Given the description of an element on the screen output the (x, y) to click on. 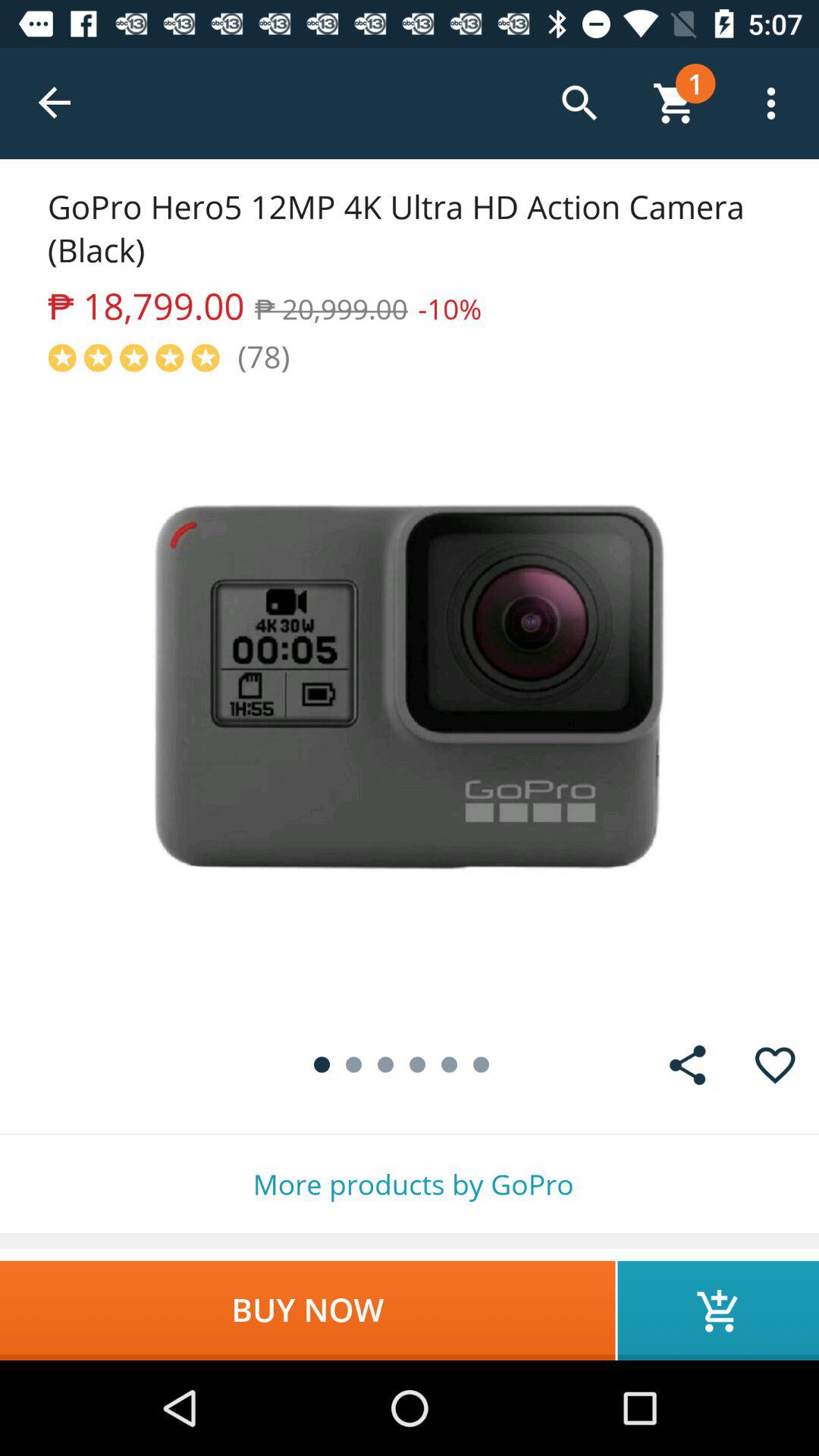
back button (55, 103)
